Given the description of an element on the screen output the (x, y) to click on. 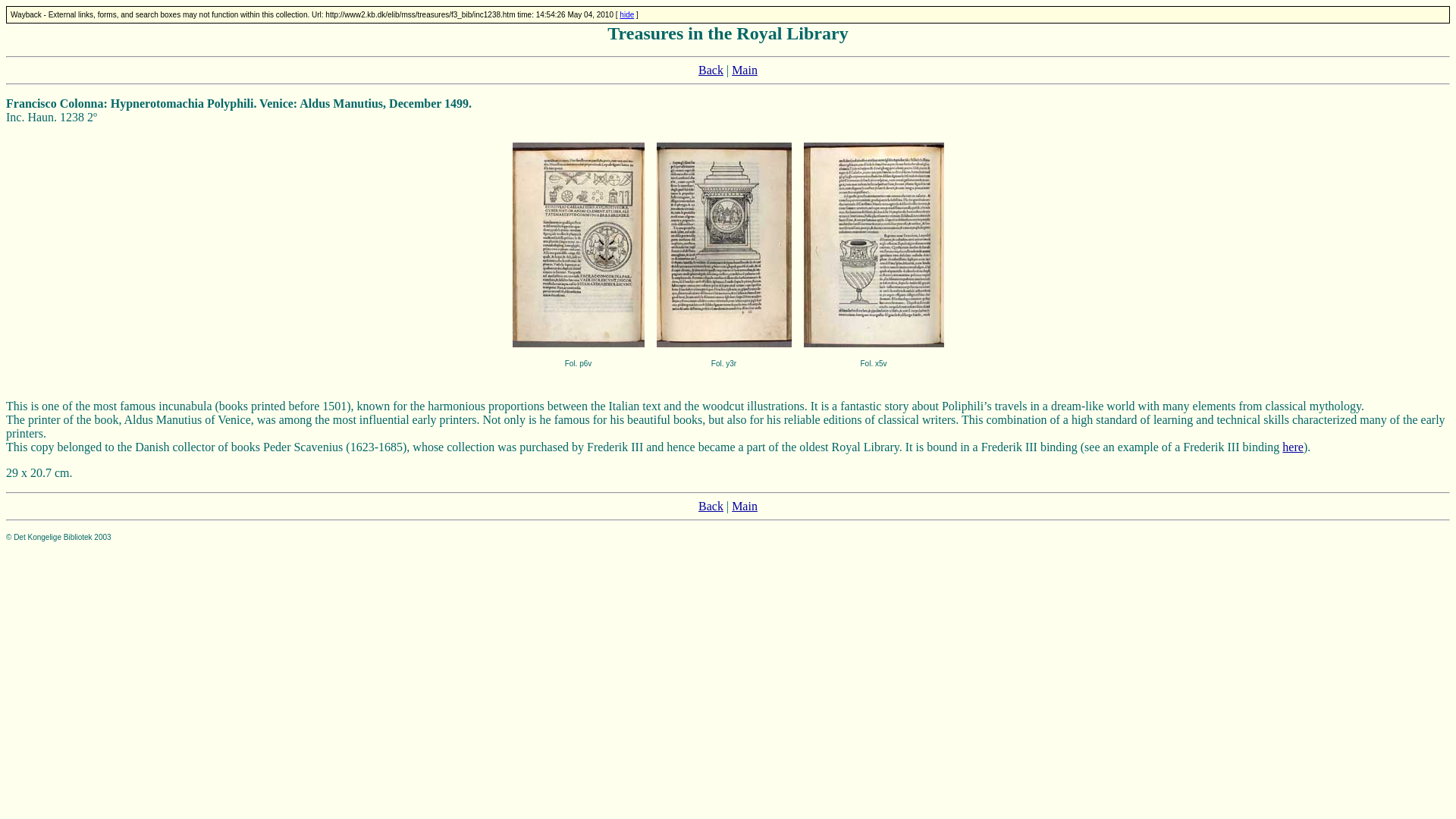
here (1292, 446)
Back (710, 505)
hide (626, 14)
Back (710, 69)
Main (744, 69)
Main (744, 505)
